Given the description of an element on the screen output the (x, y) to click on. 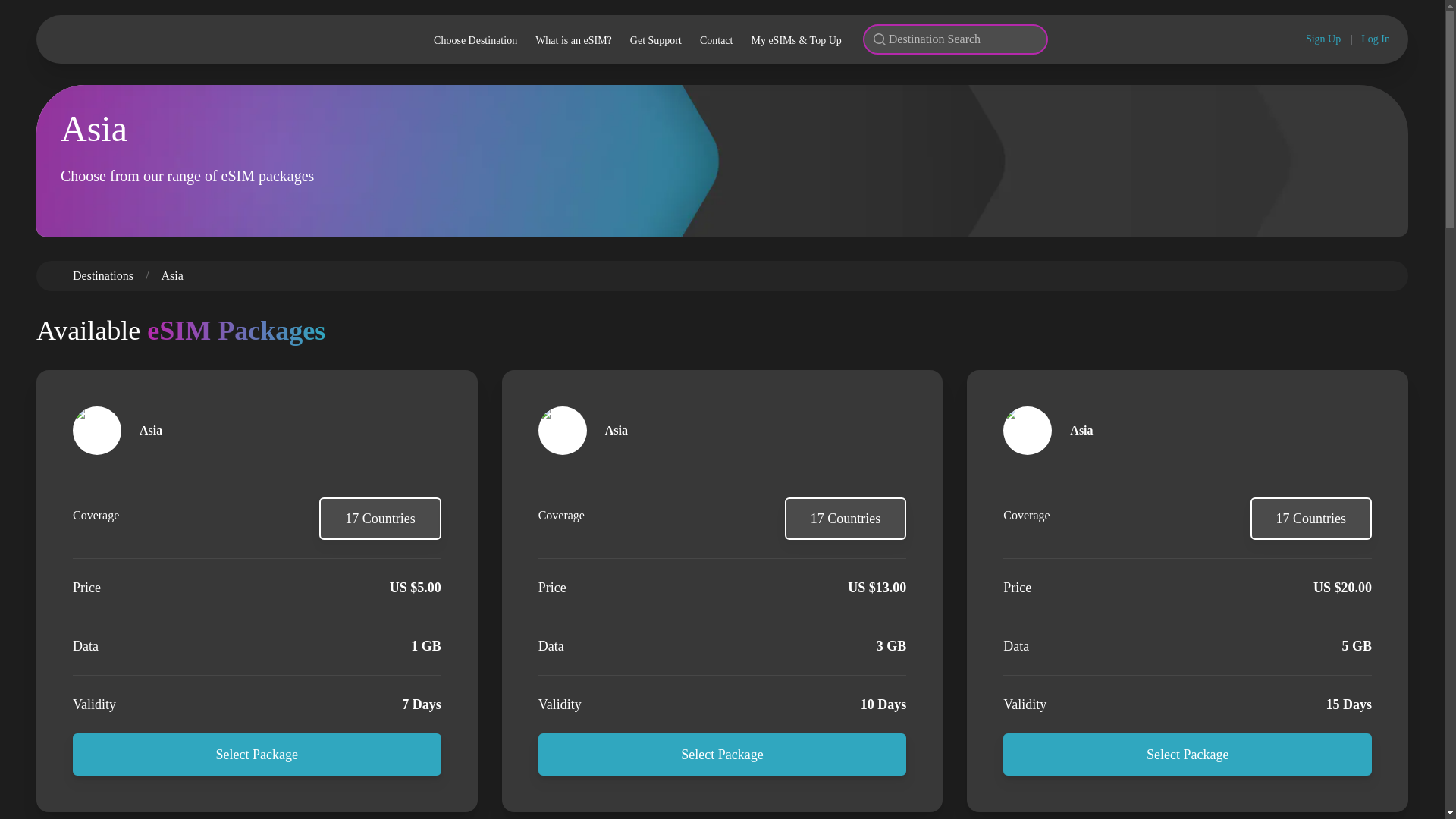
17 Countries (379, 518)
Select Package (722, 754)
Select Package (1187, 754)
Log In (1375, 39)
Contact (716, 39)
Get Support (655, 39)
Select Package (256, 754)
What is an eSIM? (573, 39)
Choose Destination (474, 39)
17 Countries (845, 518)
Sign Up (1323, 39)
Asia (171, 275)
Destinations (102, 275)
17 Countries (1310, 518)
